Given the description of an element on the screen output the (x, y) to click on. 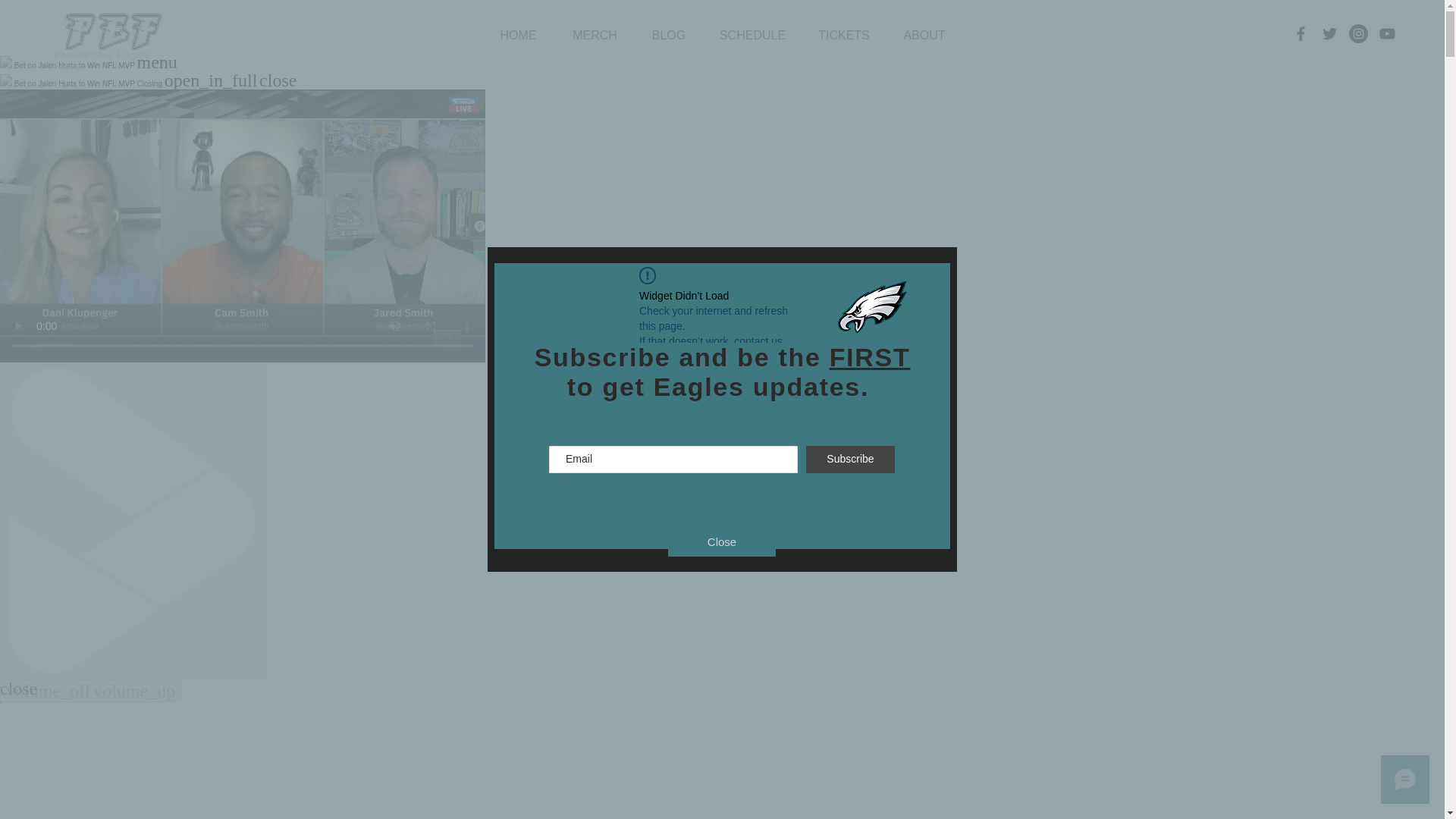
BLOG (668, 35)
Subscribe (850, 459)
TICKETS (843, 35)
SCHEDULE (752, 35)
HOME (517, 35)
